Given the description of an element on the screen output the (x, y) to click on. 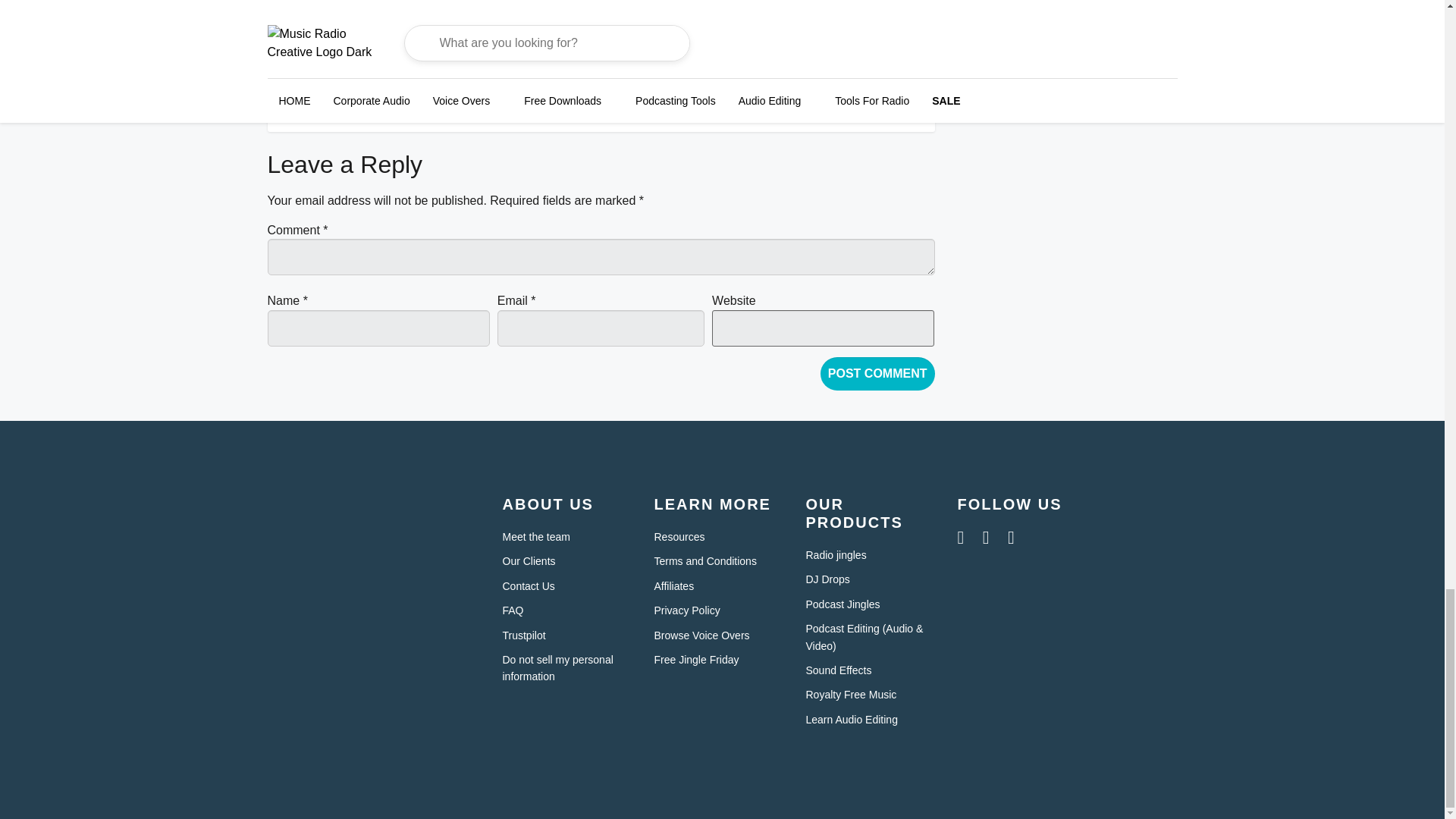
Post Comment (877, 373)
